Given the description of an element on the screen output the (x, y) to click on. 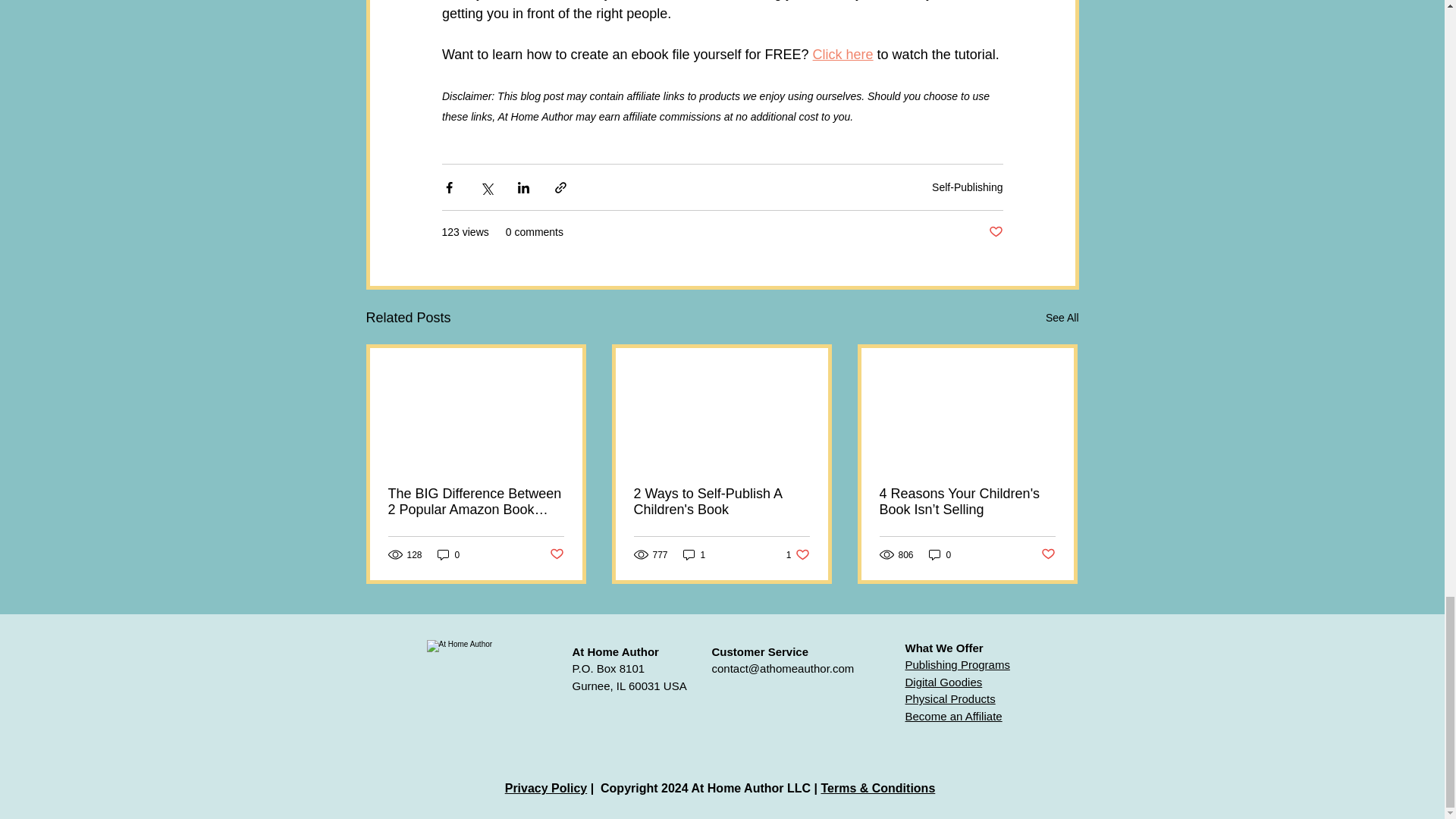
Click here (842, 53)
